Given the description of an element on the screen output the (x, y) to click on. 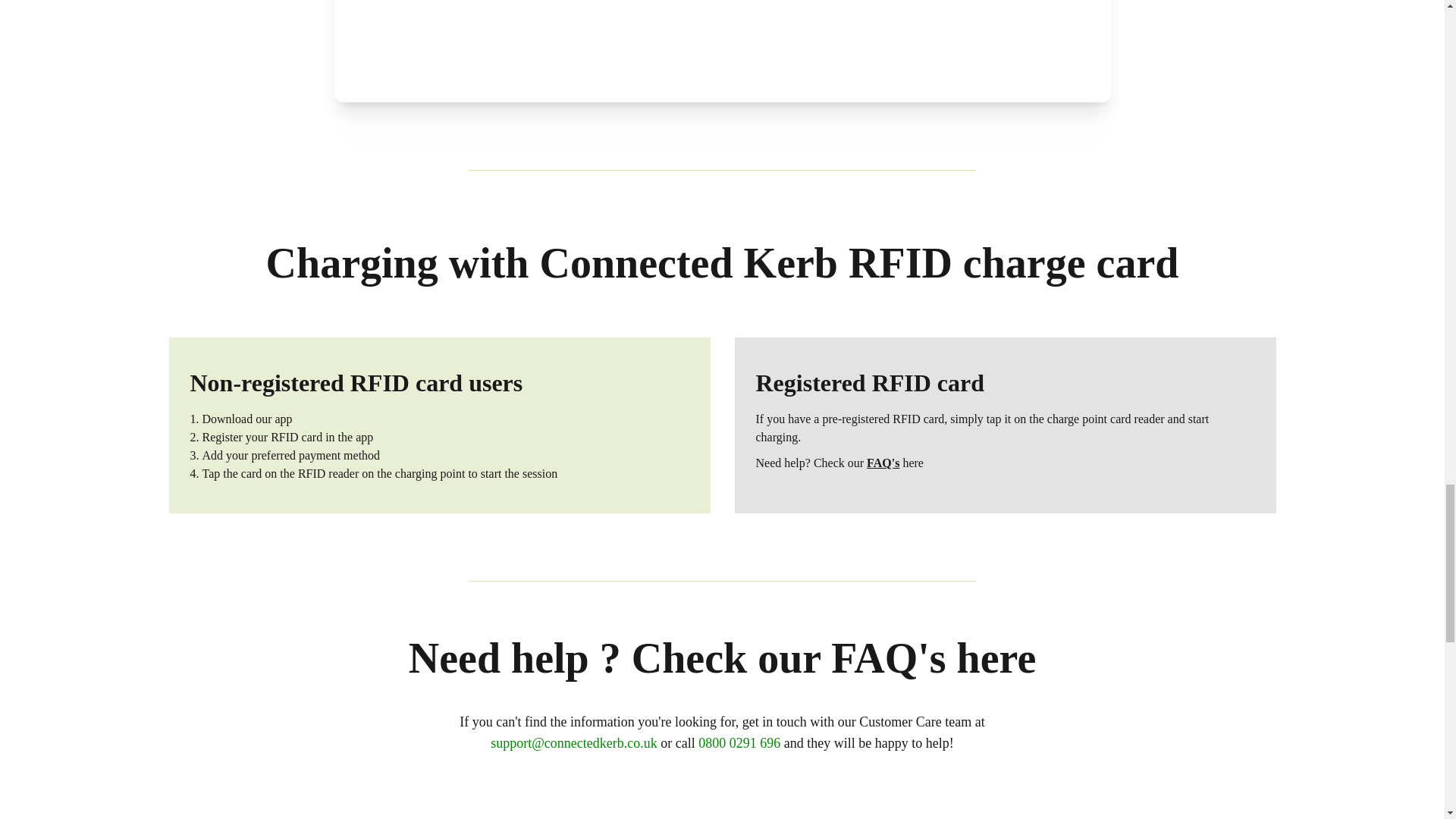
kerb video (721, 51)
FAQ's (882, 462)
0800 0291 696 (739, 743)
